Given the description of an element on the screen output the (x, y) to click on. 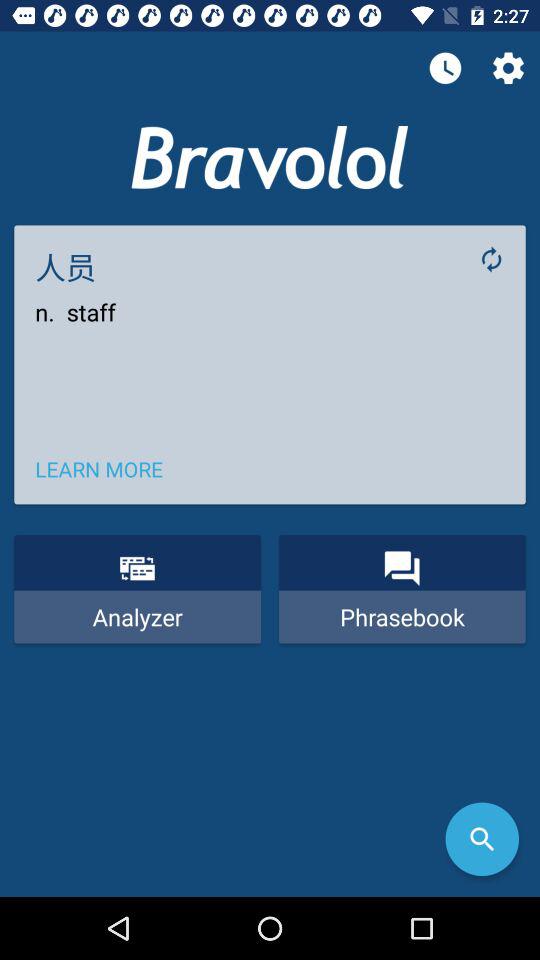
turn on icon below phrasebook item (482, 839)
